Given the description of an element on the screen output the (x, y) to click on. 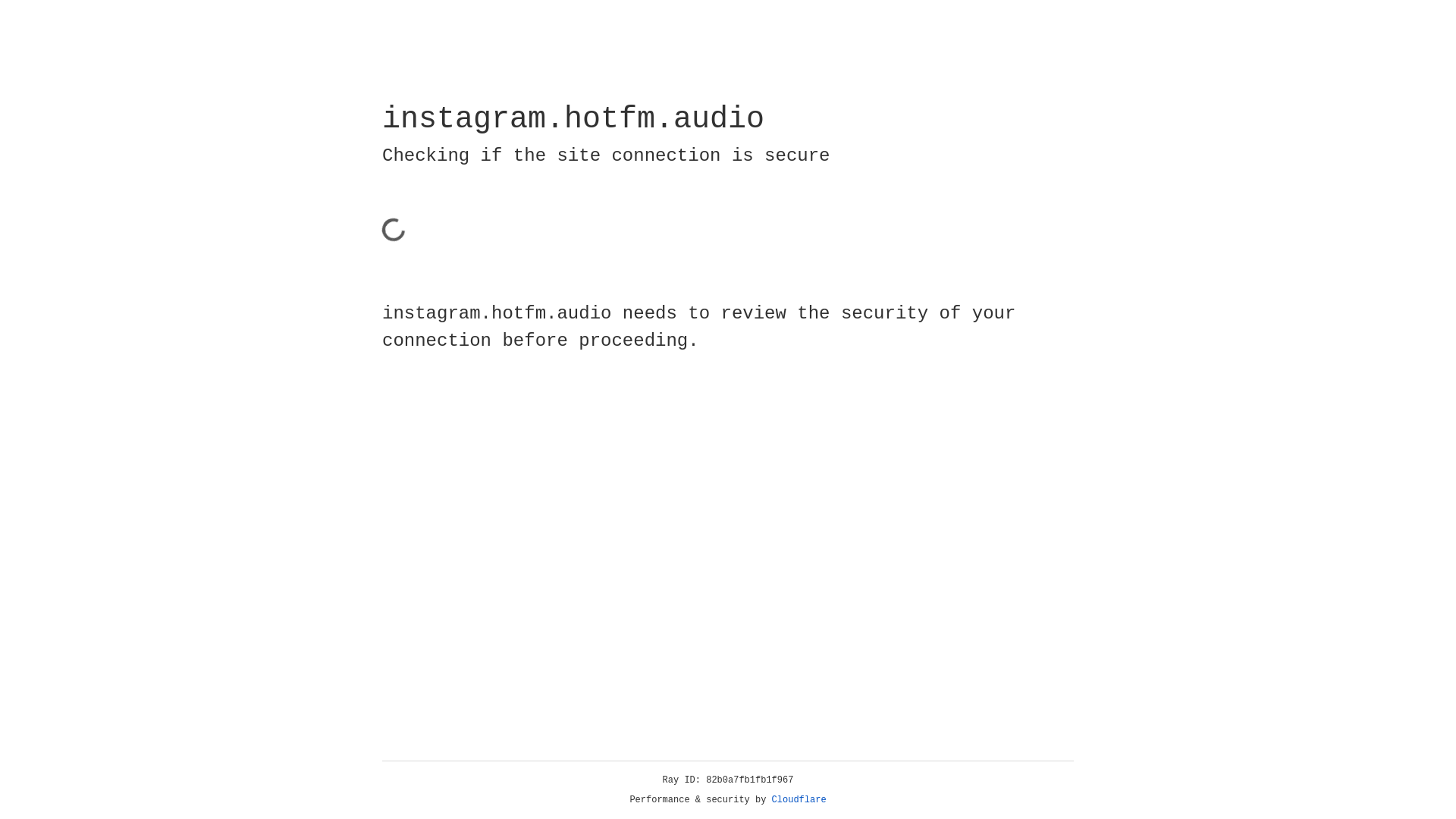
Cloudflare Element type: text (798, 799)
